Given the description of an element on the screen output the (x, y) to click on. 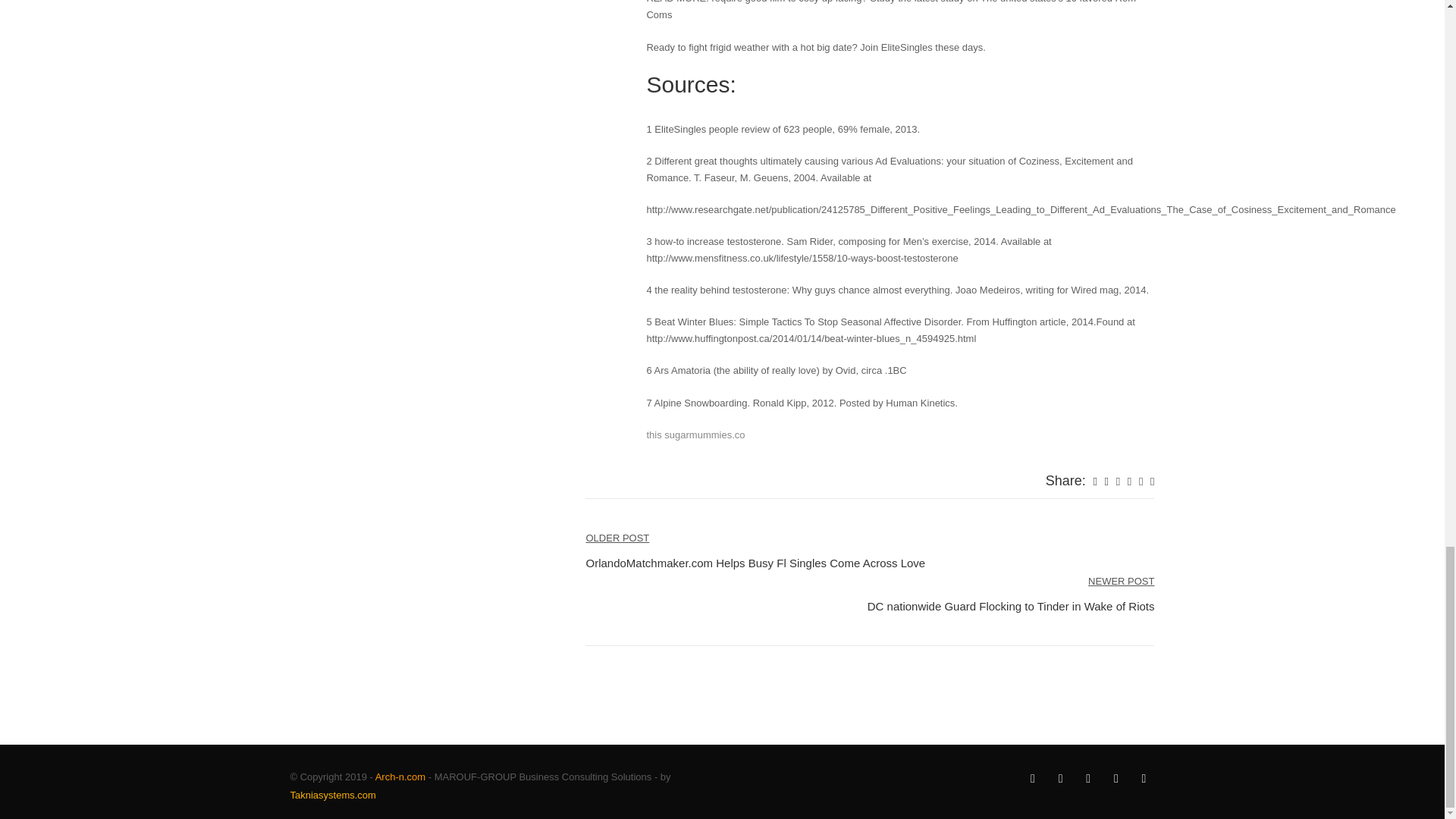
this sugarmummies.co (695, 434)
Takniasystems.com (332, 794)
Arch-n.com (400, 776)
